Given the description of an element on the screen output the (x, y) to click on. 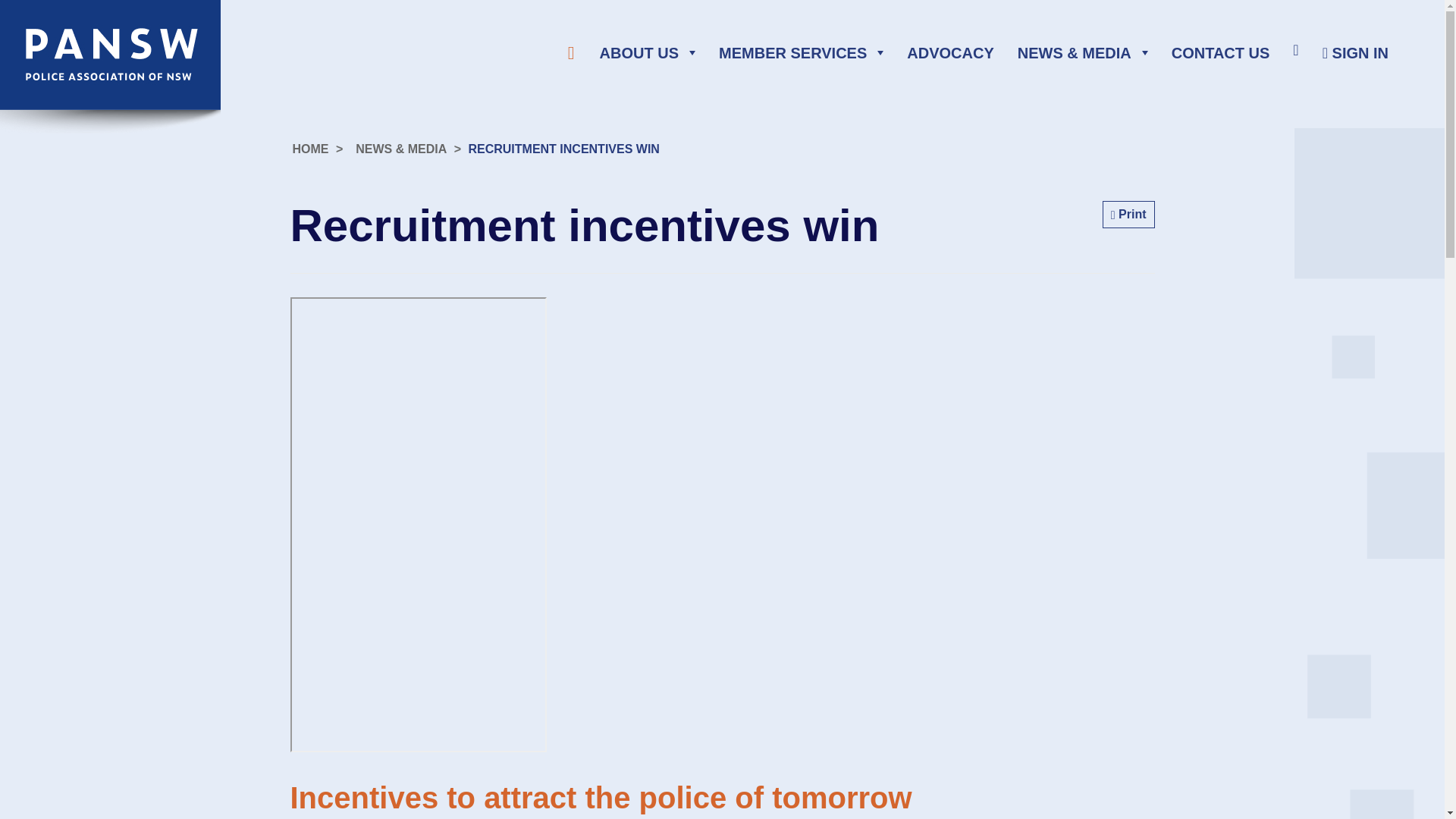
Advocacy (949, 51)
Sign in (1355, 51)
Print (1128, 214)
Member Services (801, 51)
ABOUT US (647, 51)
Contact Us (1220, 51)
ADVOCACY (949, 51)
About Us (647, 51)
MEMBER SERVICES (801, 51)
CONTACT US (1220, 51)
